Given the description of an element on the screen output the (x, y) to click on. 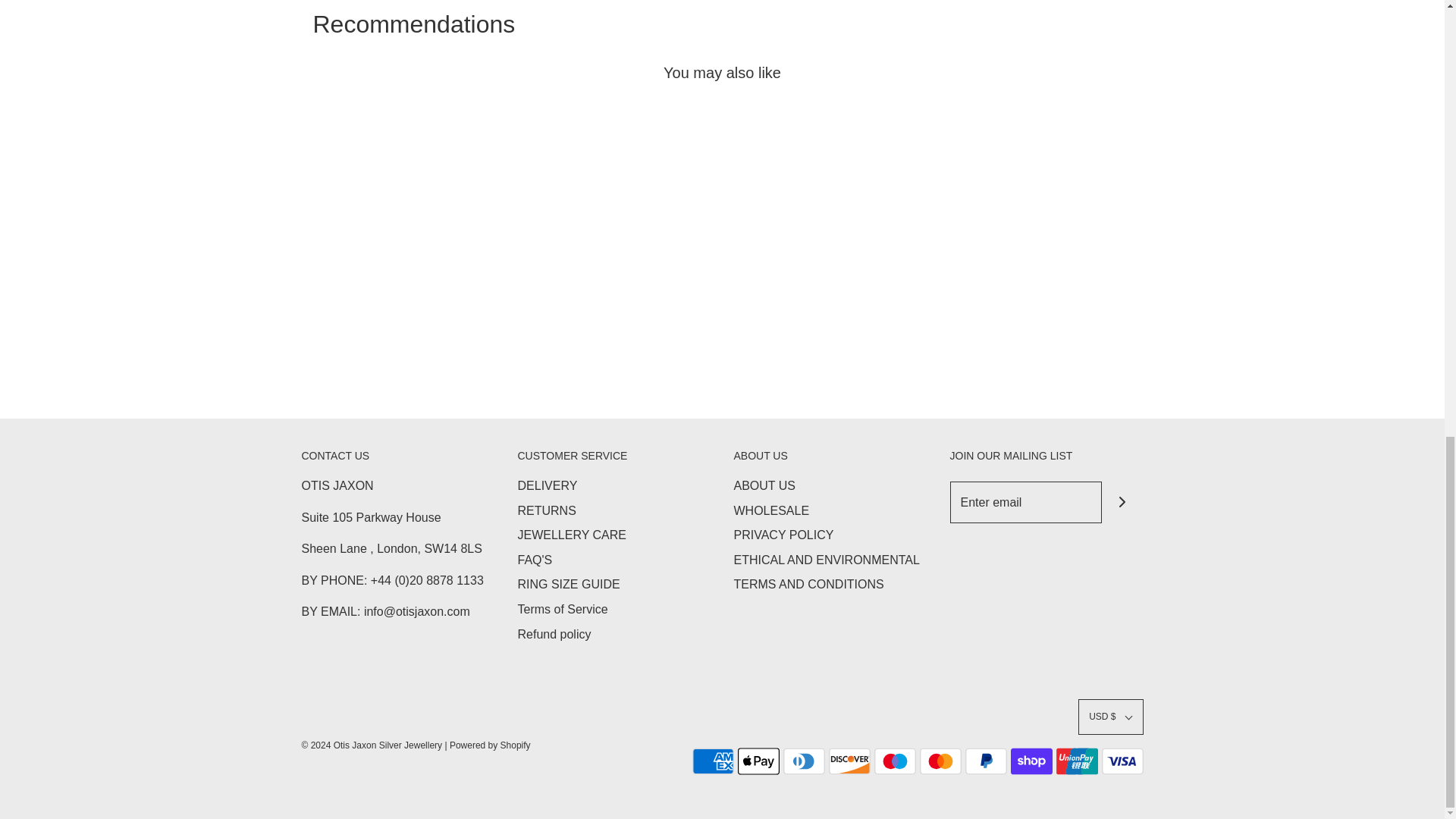
Apple Pay (757, 761)
American Express (712, 761)
